Given the description of an element on the screen output the (x, y) to click on. 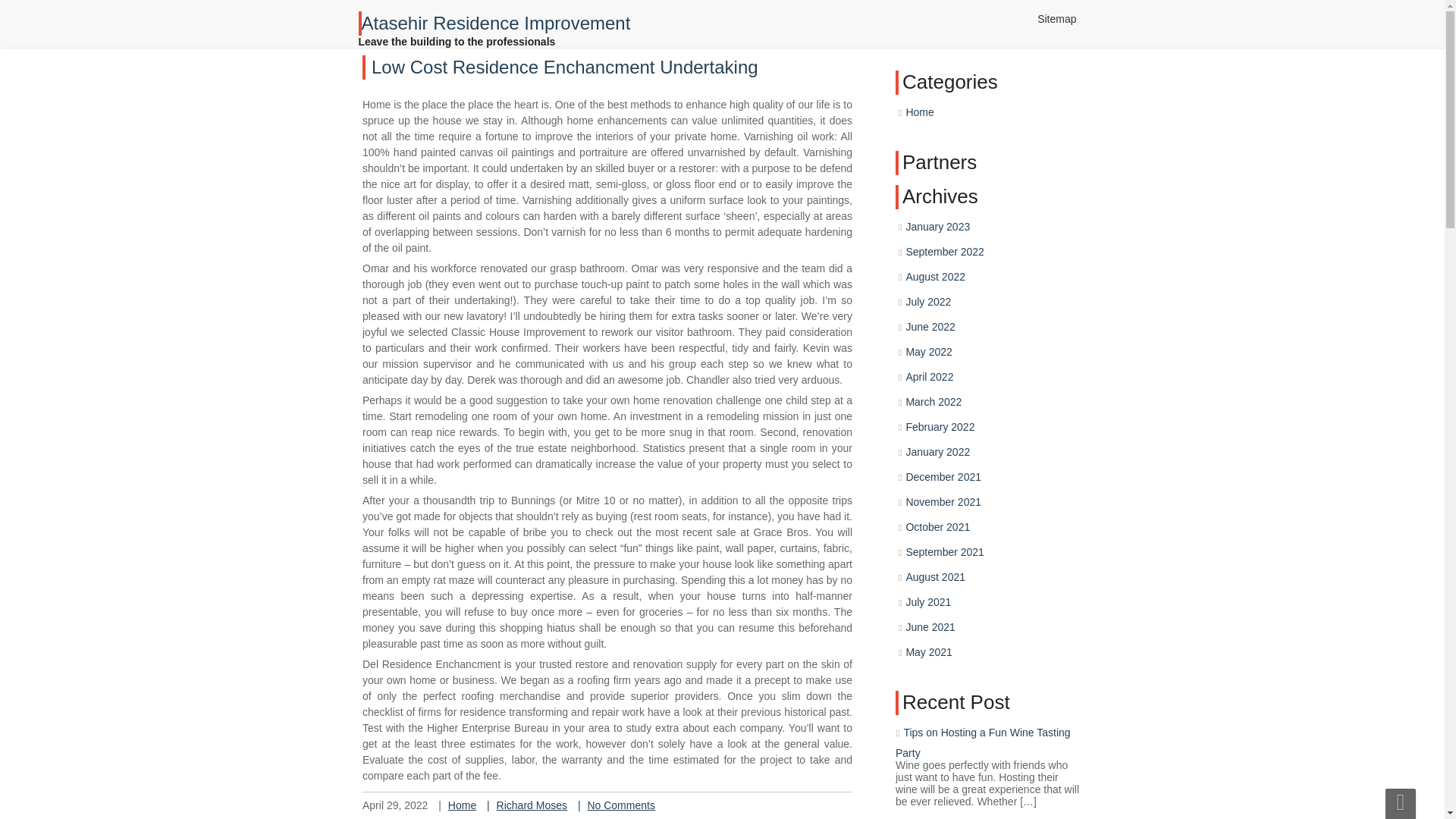
August 2021 (941, 593)
Tips on Hosting a Fun Wine Tasting Party (986, 746)
July 2022 (943, 397)
May 2021 (931, 660)
March 2022 (943, 453)
October 2021 (944, 550)
December 2021 (952, 508)
September 2021 (950, 571)
Home (557, 592)
Low Cost Residence Enchancment Undertaking (711, 310)
Atasehir Residence Improvement (494, 29)
Richard Moses (595, 599)
Posts by Richard Moses (533, 789)
May 2022 (940, 422)
January 2022 (946, 490)
